Given the description of an element on the screen output the (x, y) to click on. 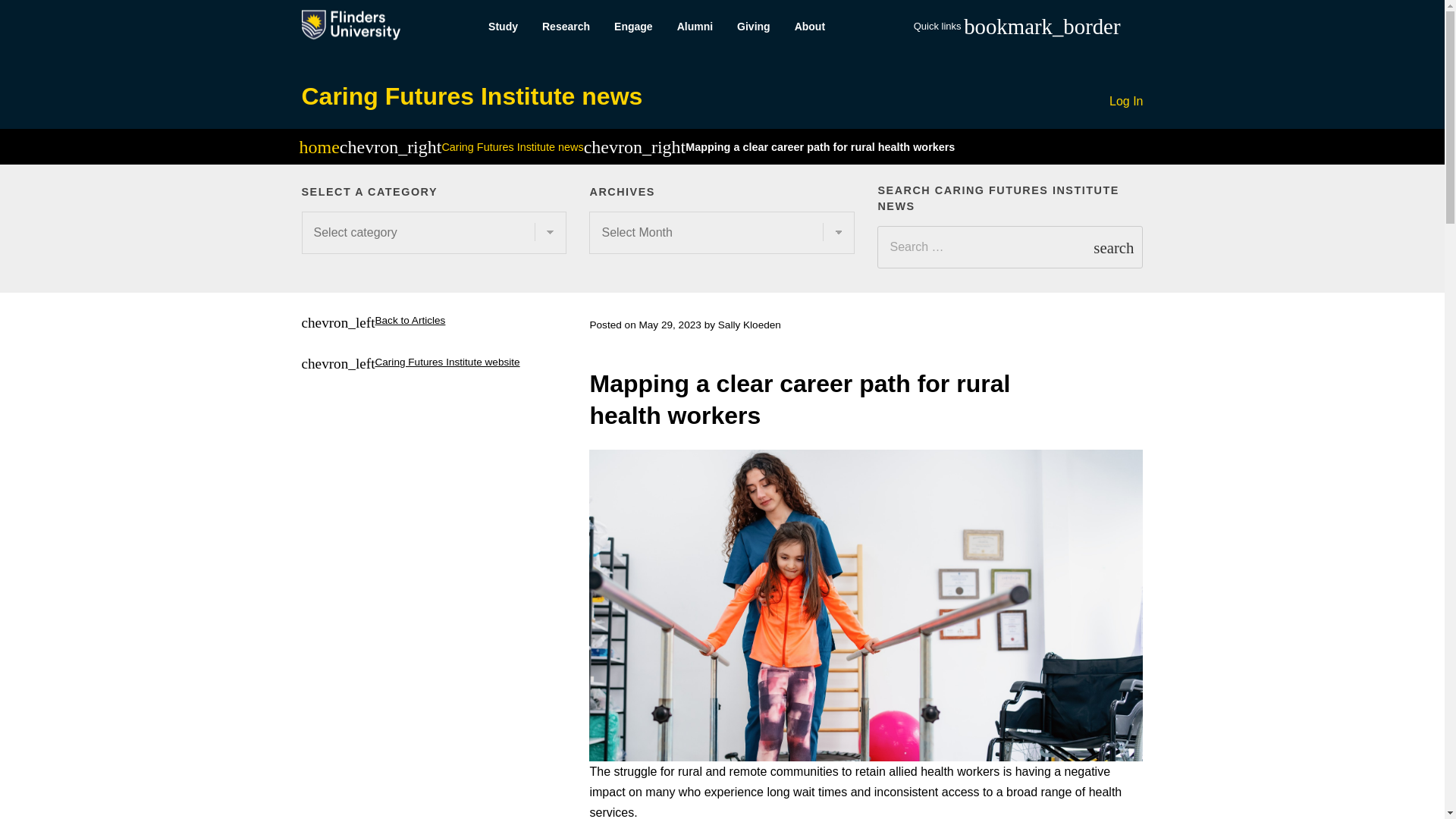
Log In (1125, 101)
Homepage (318, 149)
Engage (633, 26)
Research (565, 26)
GENERATING EVIDENCE TO IMPROVE AGED CARE IN AUSTRALIA (1200, 361)
search (1113, 247)
About (810, 26)
Caring Futures Institute news (472, 95)
Sally Kloeden (748, 324)
